Given the description of an element on the screen output the (x, y) to click on. 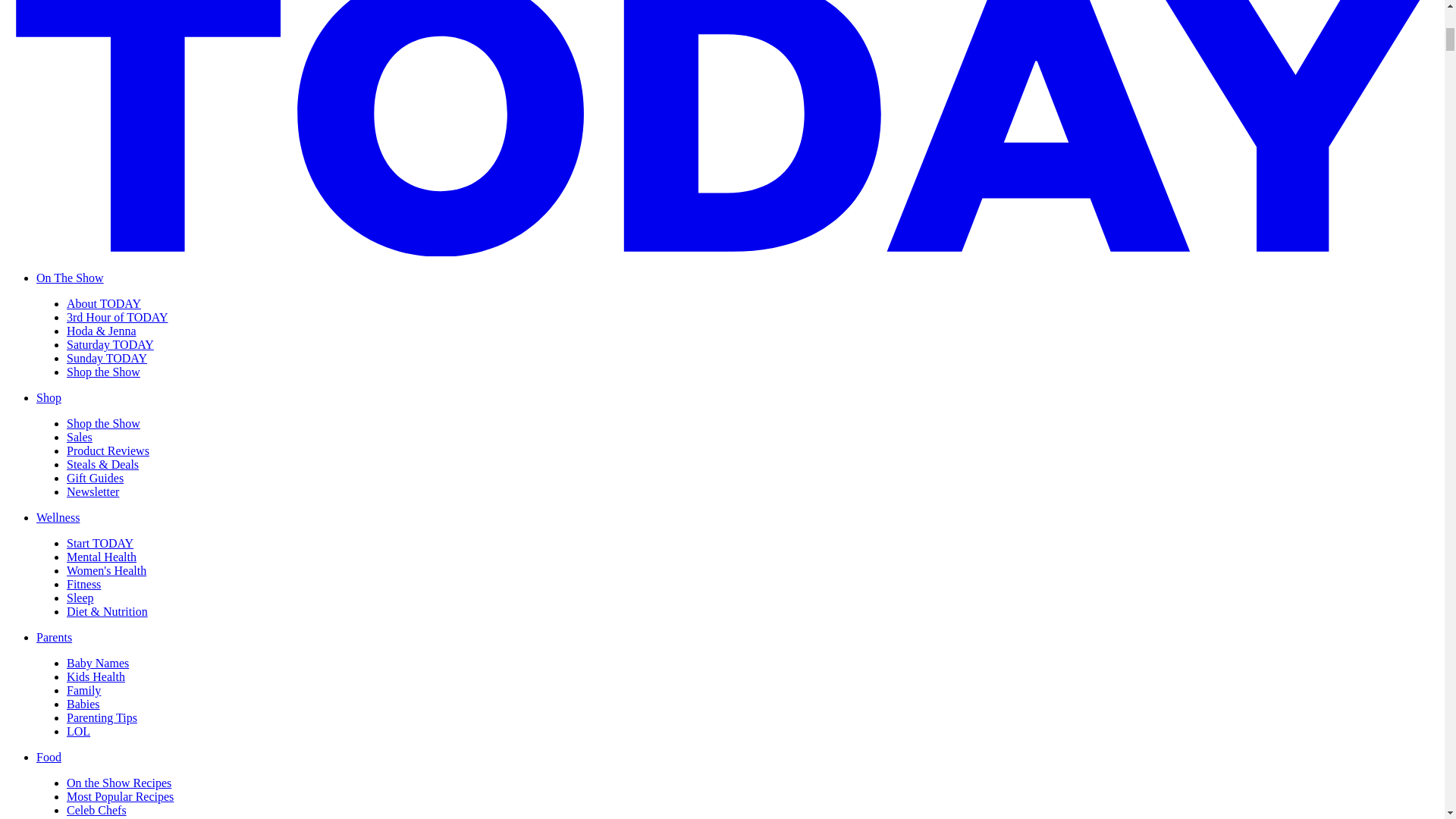
Food (48, 757)
Food Tips (91, 818)
Sales (79, 436)
LOL (78, 730)
Sunday TODAY (106, 358)
Mental Health (101, 556)
Gift Guides (94, 477)
Saturday TODAY (110, 344)
Parenting Tips (101, 717)
On the Show Recipes (118, 782)
